Given the description of an element on the screen output the (x, y) to click on. 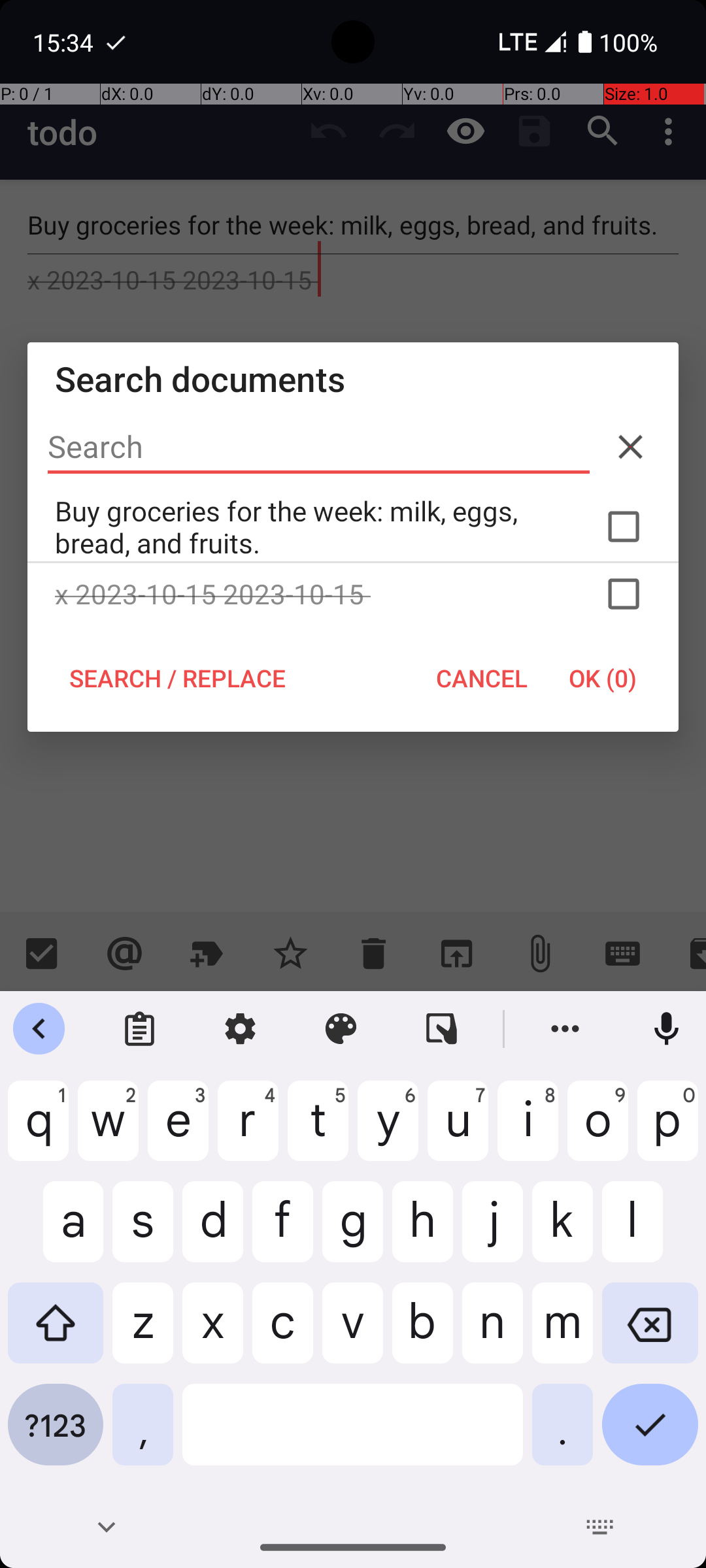
Buy groceries for the week: milk, eggs, bread, and fruits. Element type: android.widget.CheckedTextView (352, 526)
x 2023-10-15 2023-10-15  Element type: android.widget.CheckedTextView (352, 593)
